Given the description of an element on the screen output the (x, y) to click on. 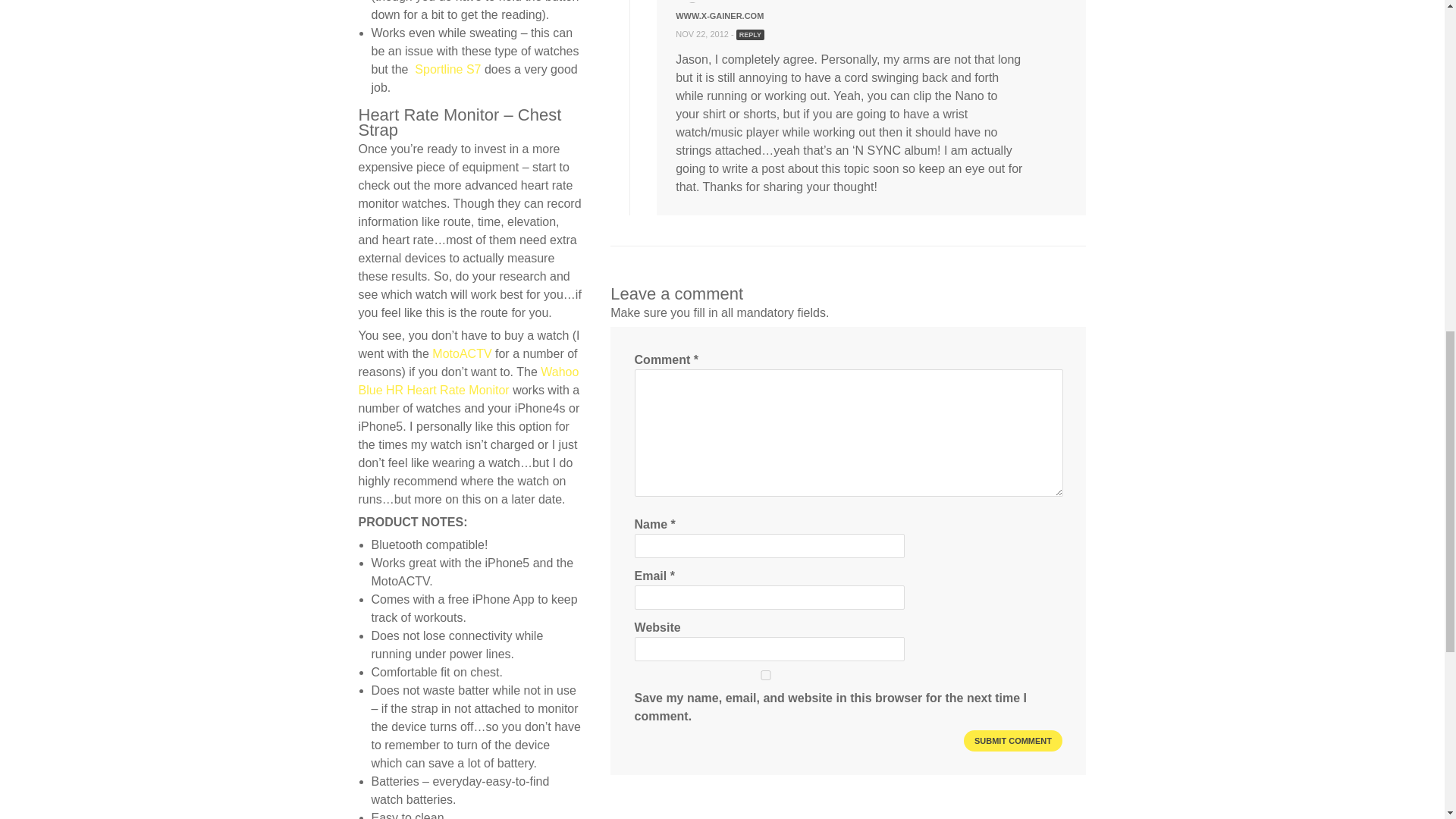
MotoACTV (462, 353)
Wahoo Blue HR Heart Rate Monitor (468, 380)
Sportline S7 (447, 69)
yes (766, 675)
Submit Comment (1012, 740)
